Given the description of an element on the screen output the (x, y) to click on. 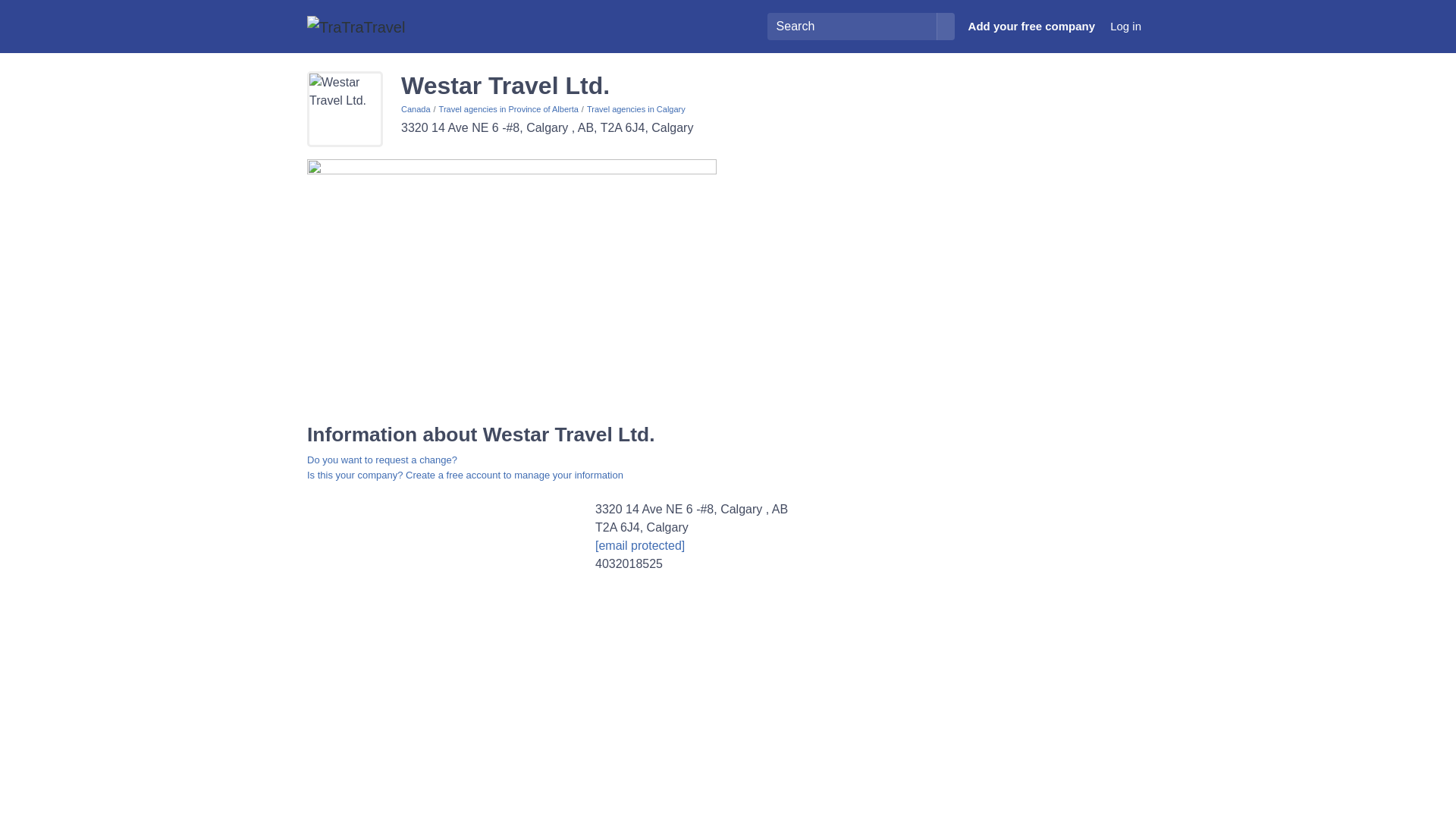
Canada (415, 108)
Do you want to request a change? (382, 460)
Travel agencies in Province of Alberta (508, 108)
Travel agencies in Calgary (635, 108)
Add your free company (1031, 26)
